Given the description of an element on the screen output the (x, y) to click on. 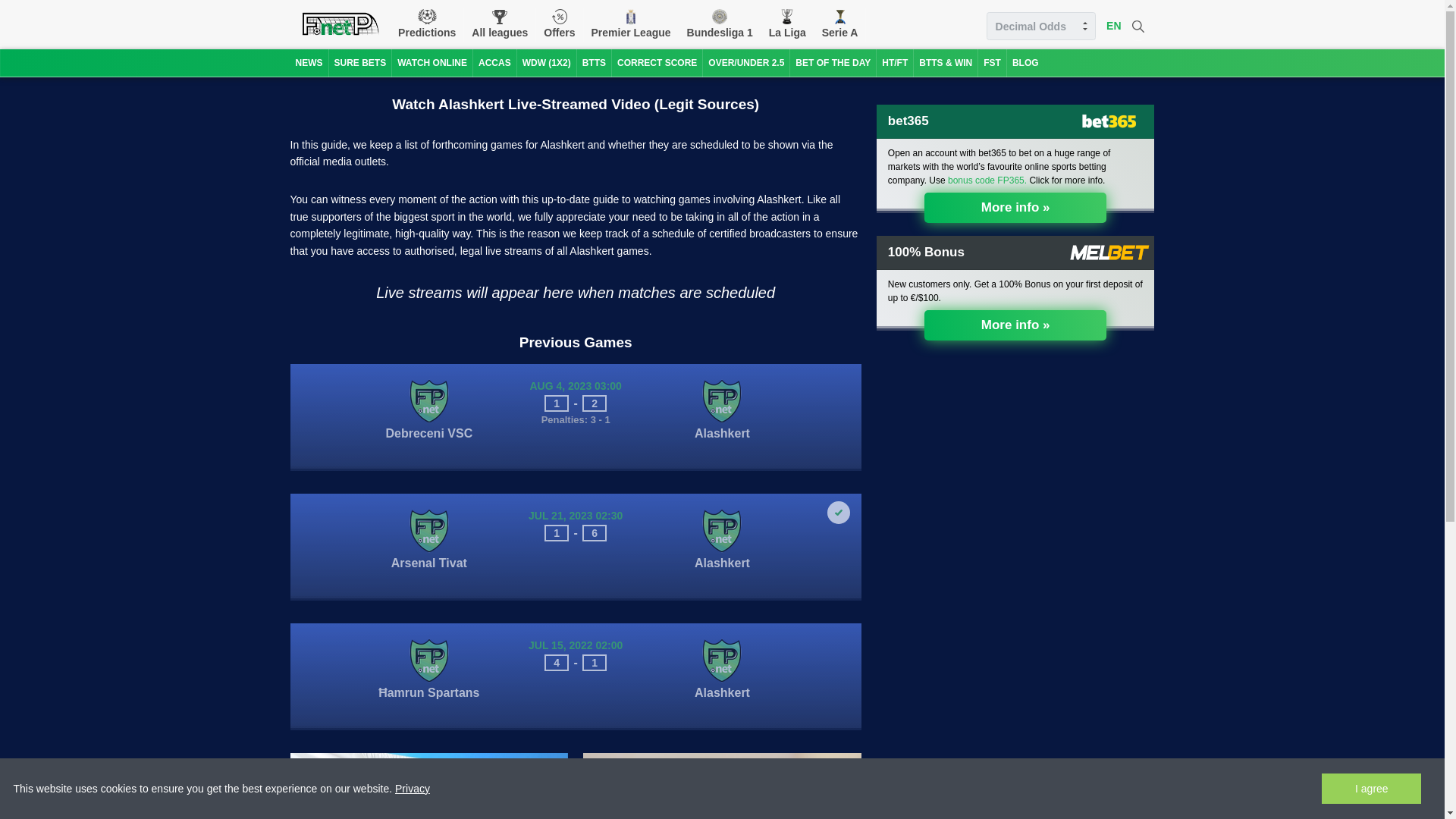
BLOG (1025, 62)
All leagues (499, 24)
Debreceni VSC (428, 448)
BTTS (593, 62)
SURE BETS (360, 62)
WATCH ONLINE (431, 62)
Bundesliga 1 (719, 24)
Offers (558, 24)
Serie A (839, 24)
ACCAS (494, 62)
